Given the description of an element on the screen output the (x, y) to click on. 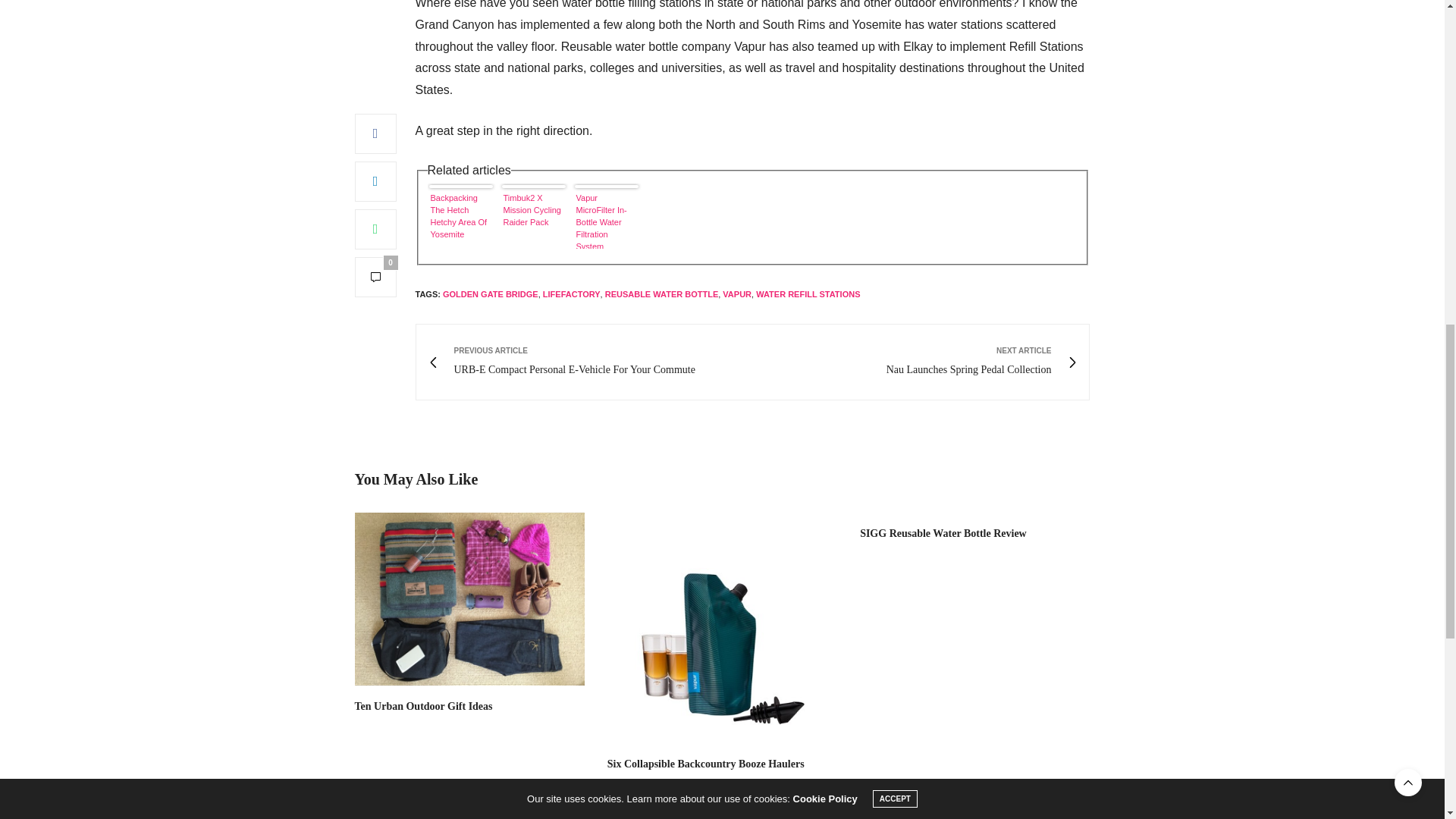
Ten Urban Outdoor Gift Ideas (470, 598)
SIGG Reusable Water Bottle Review (943, 532)
Ten Urban Outdoor Gift Ideas (424, 706)
Six Collapsible Backcountry Booze Haulers (722, 627)
Six Collapsible Backcountry Booze Haulers (706, 763)
